Given the description of an element on the screen output the (x, y) to click on. 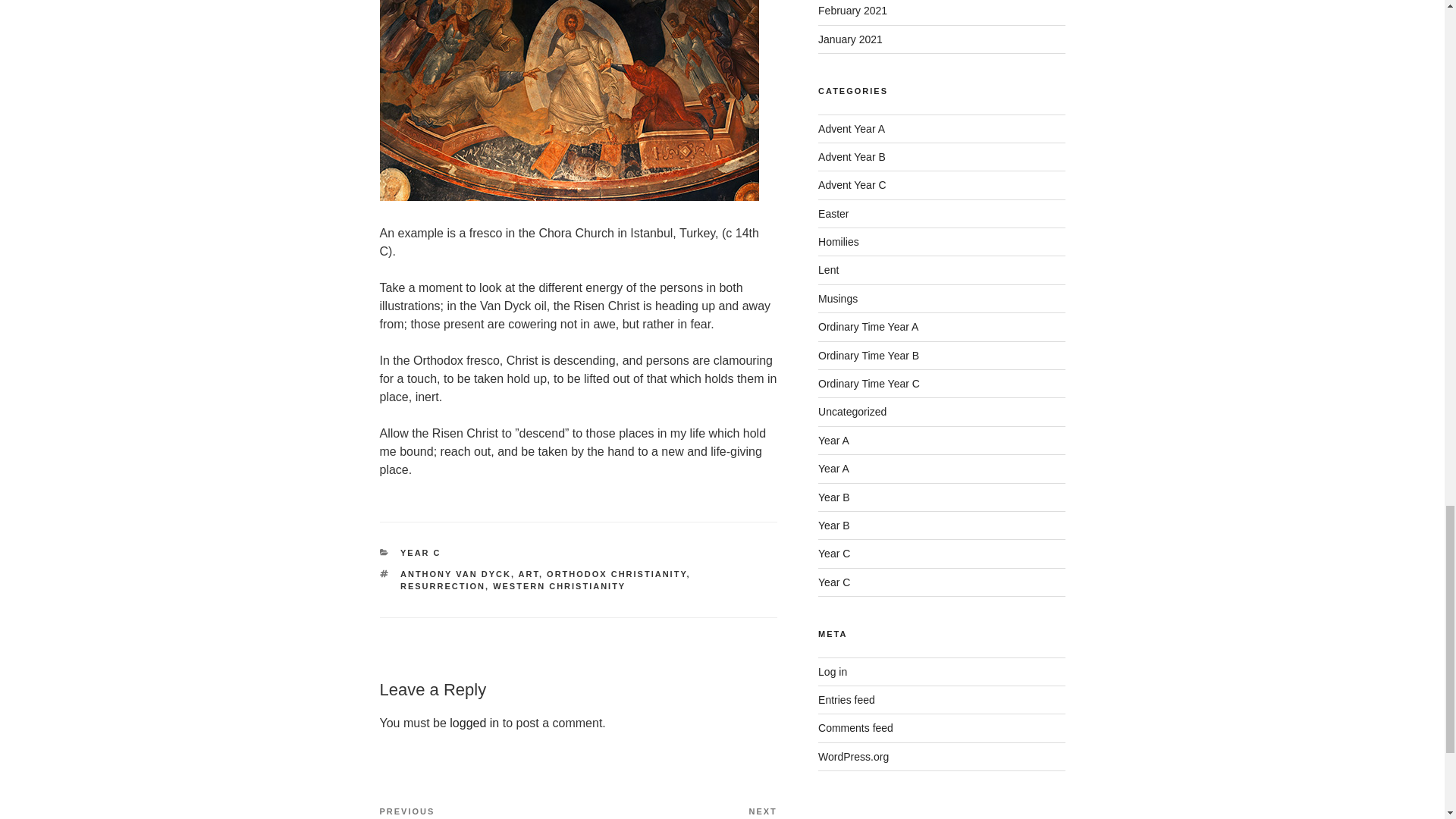
ORTHODOX CHRISTIANITY (616, 573)
WESTERN CHRISTIANITY (559, 585)
ART (528, 573)
logged in (478, 812)
RESURRECTION (474, 722)
YEAR C (442, 585)
ANTHONY VAN DYCK (677, 812)
